Given the description of an element on the screen output the (x, y) to click on. 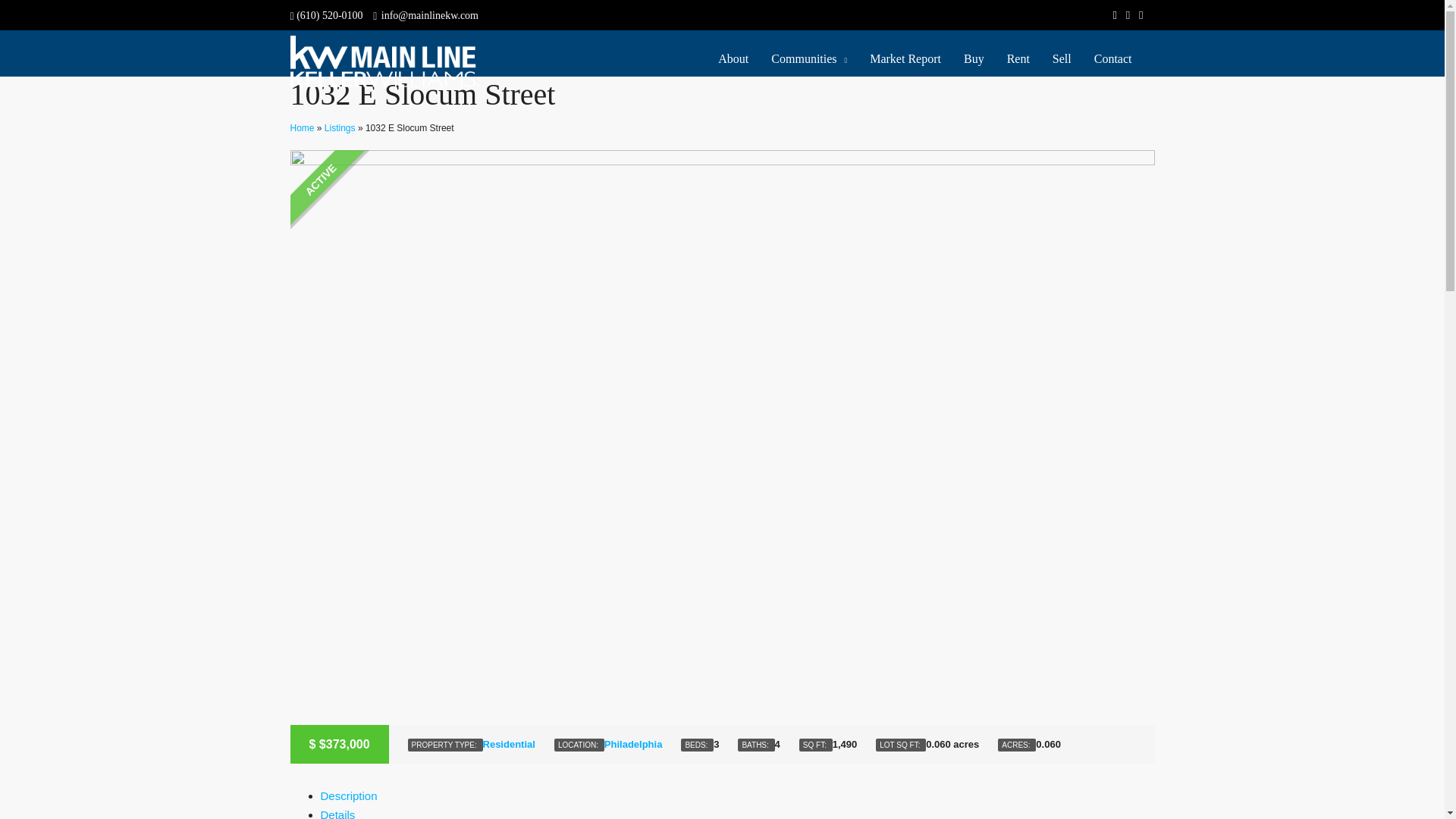
Communities (809, 59)
Contact (1112, 58)
Buy (973, 58)
Home (301, 127)
Description (348, 795)
About (733, 58)
Rent (1018, 58)
Listings (339, 127)
Philadelphia (633, 744)
Residential (509, 744)
Sell (1062, 58)
Market Report (905, 58)
Details (337, 813)
